Given the description of an element on the screen output the (x, y) to click on. 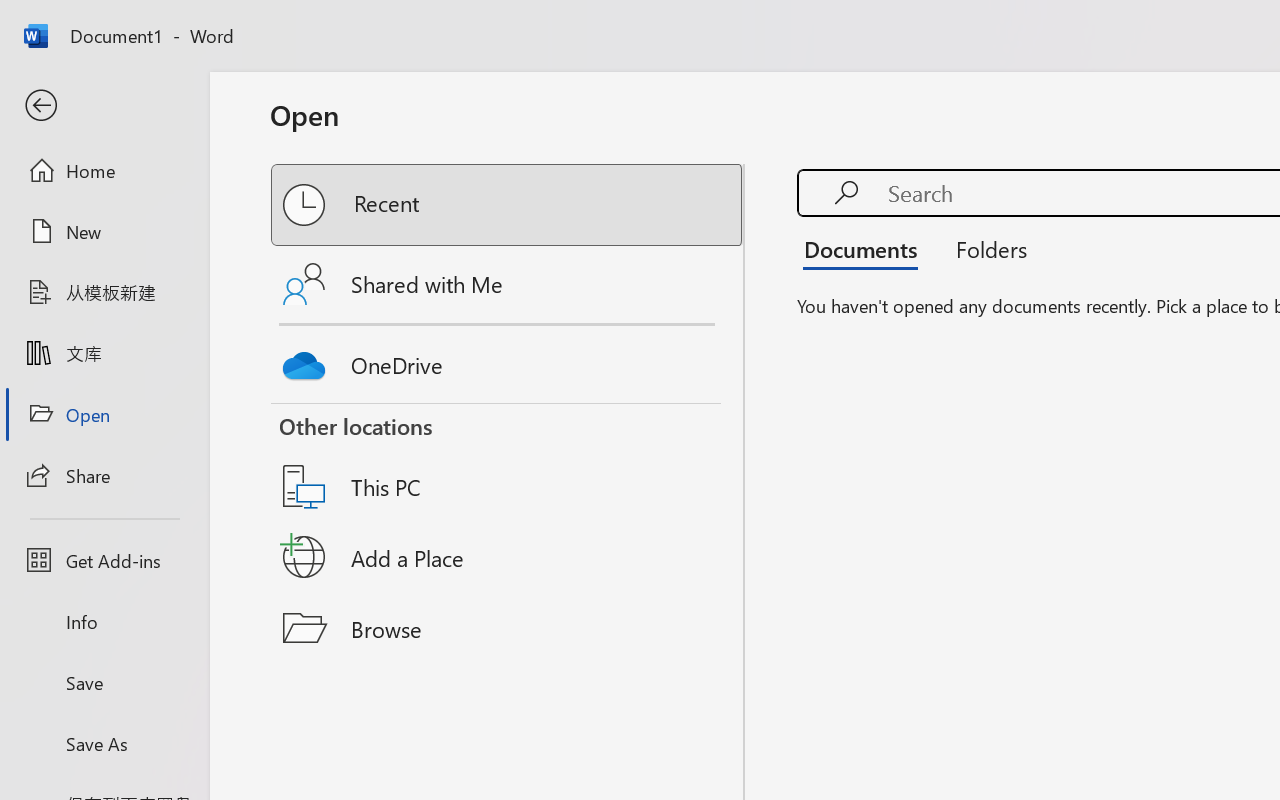
Shared with Me (507, 283)
Add a Place (507, 557)
OneDrive (507, 359)
This PC (507, 461)
Recent (507, 205)
Documents (866, 248)
New (104, 231)
Browse (507, 627)
Back (104, 106)
